Given the description of an element on the screen output the (x, y) to click on. 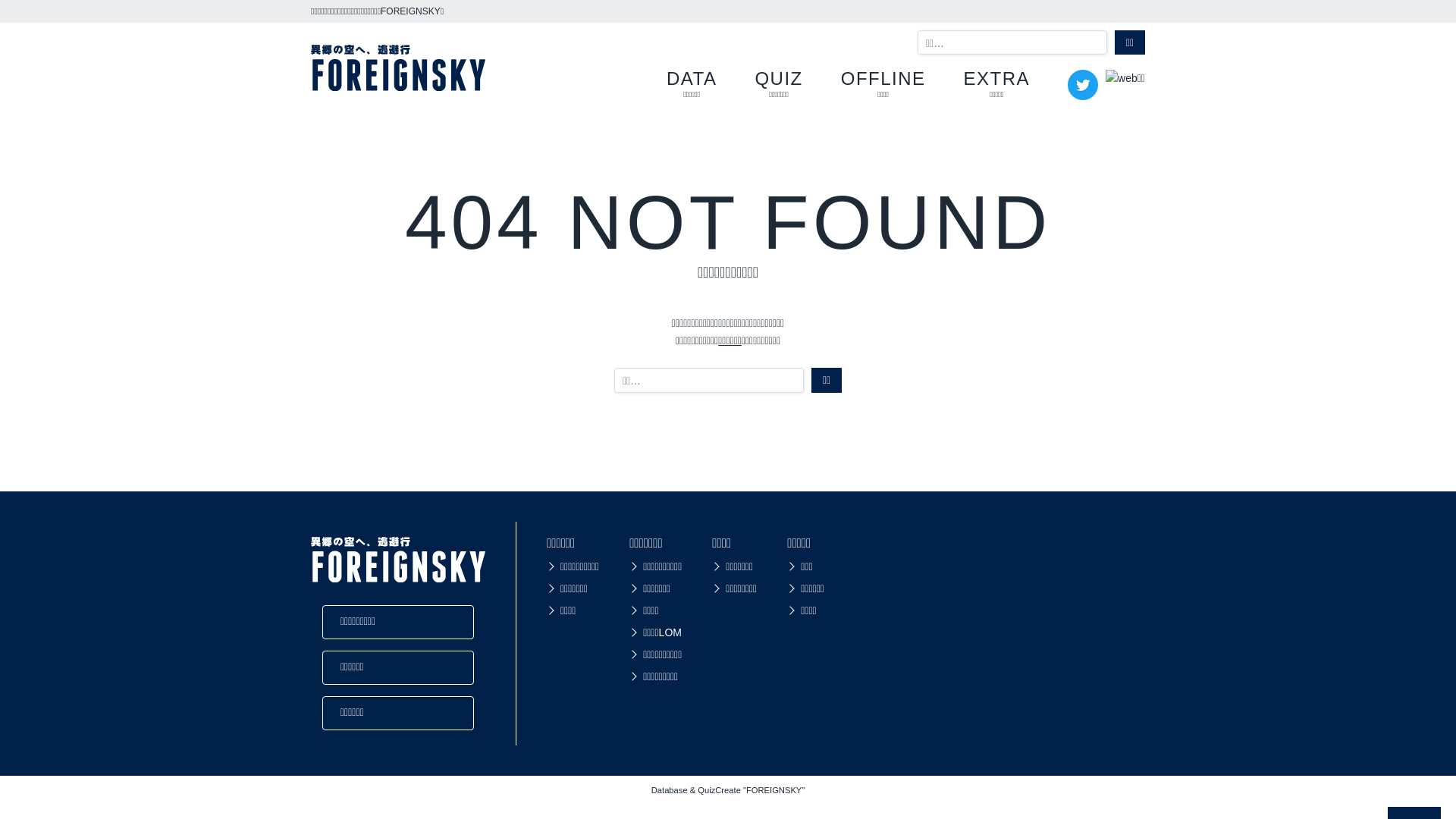
Twitter Element type: hover (1082, 91)
